Given the description of an element on the screen output the (x, y) to click on. 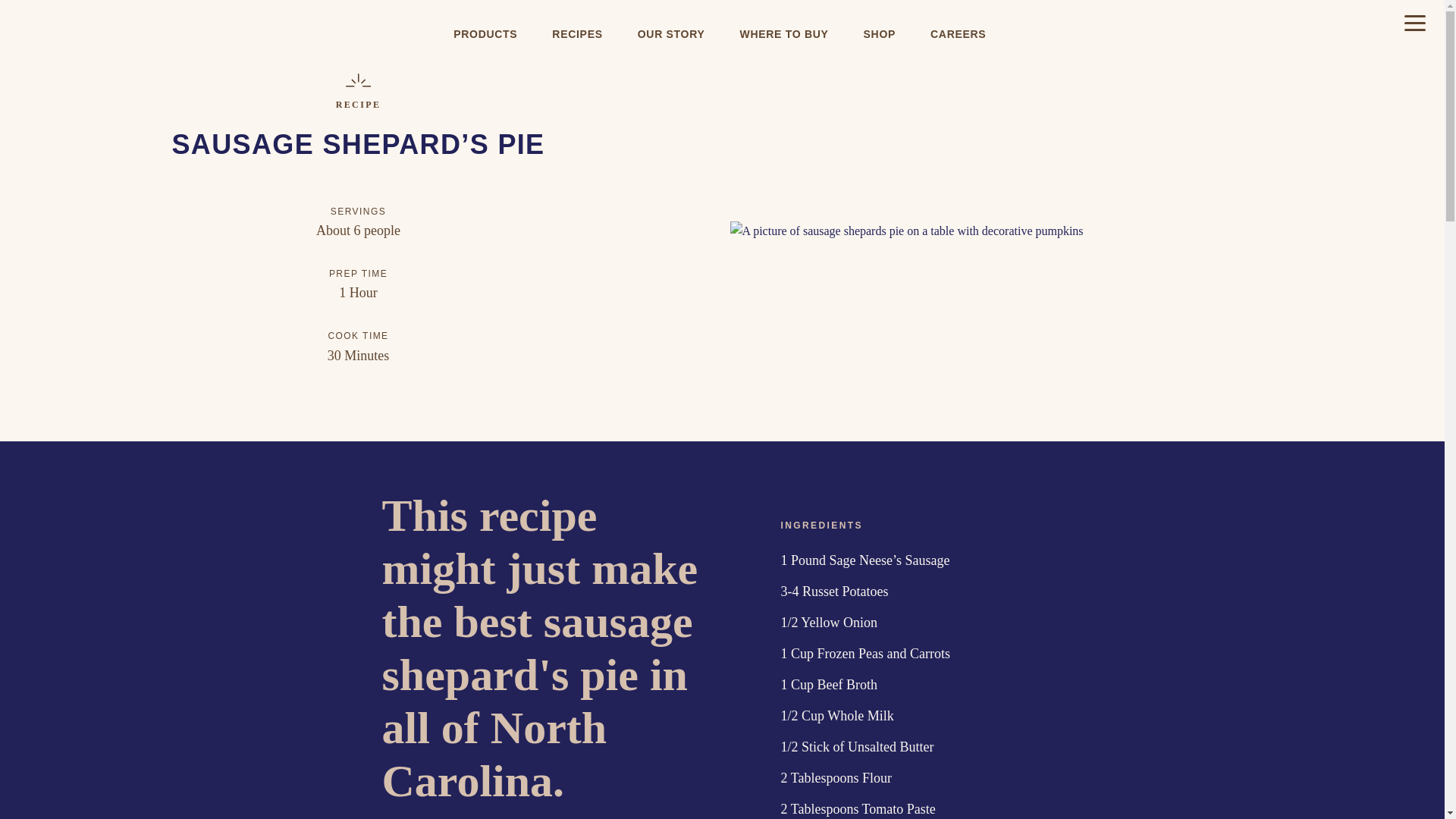
WHERE TO BUY (784, 32)
CAREERS (957, 32)
RECIPES (577, 32)
PRODUCTS (485, 32)
toggle mobile menu visibility (1415, 24)
SHOP (879, 32)
OUR STORY (671, 32)
